Given the description of an element on the screen output the (x, y) to click on. 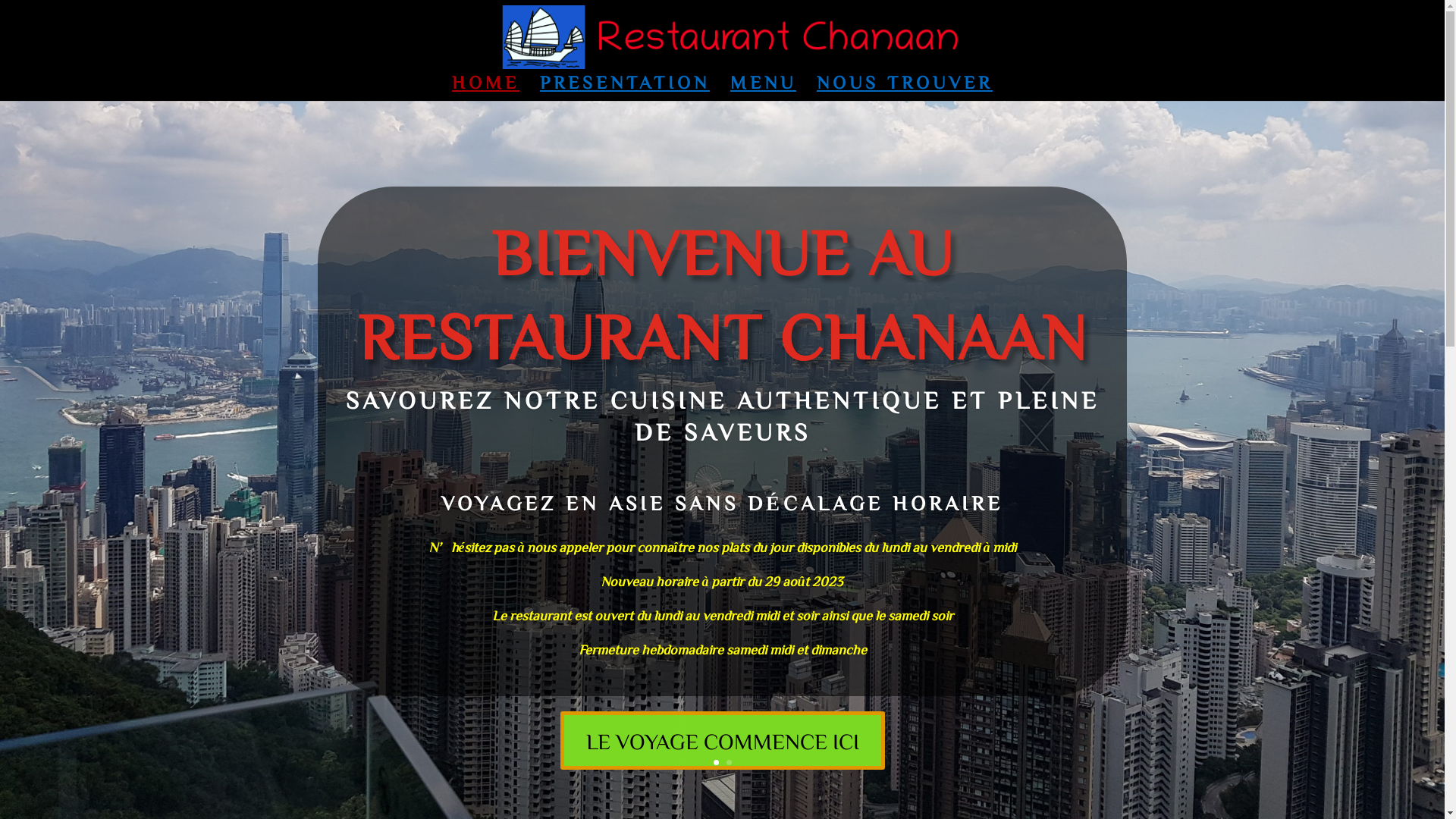
NOUS TROUVER Element type: text (904, 88)
2 Element type: text (728, 762)
LE VOYAGE COMMENCE ICI Element type: text (721, 740)
PRESENTATION Element type: text (624, 88)
HOME Element type: text (485, 88)
BIENVENUE AU RESTAURANT CHANAAN Element type: text (722, 292)
MENU Element type: text (763, 88)
1 Element type: text (715, 762)
